Given the description of an element on the screen output the (x, y) to click on. 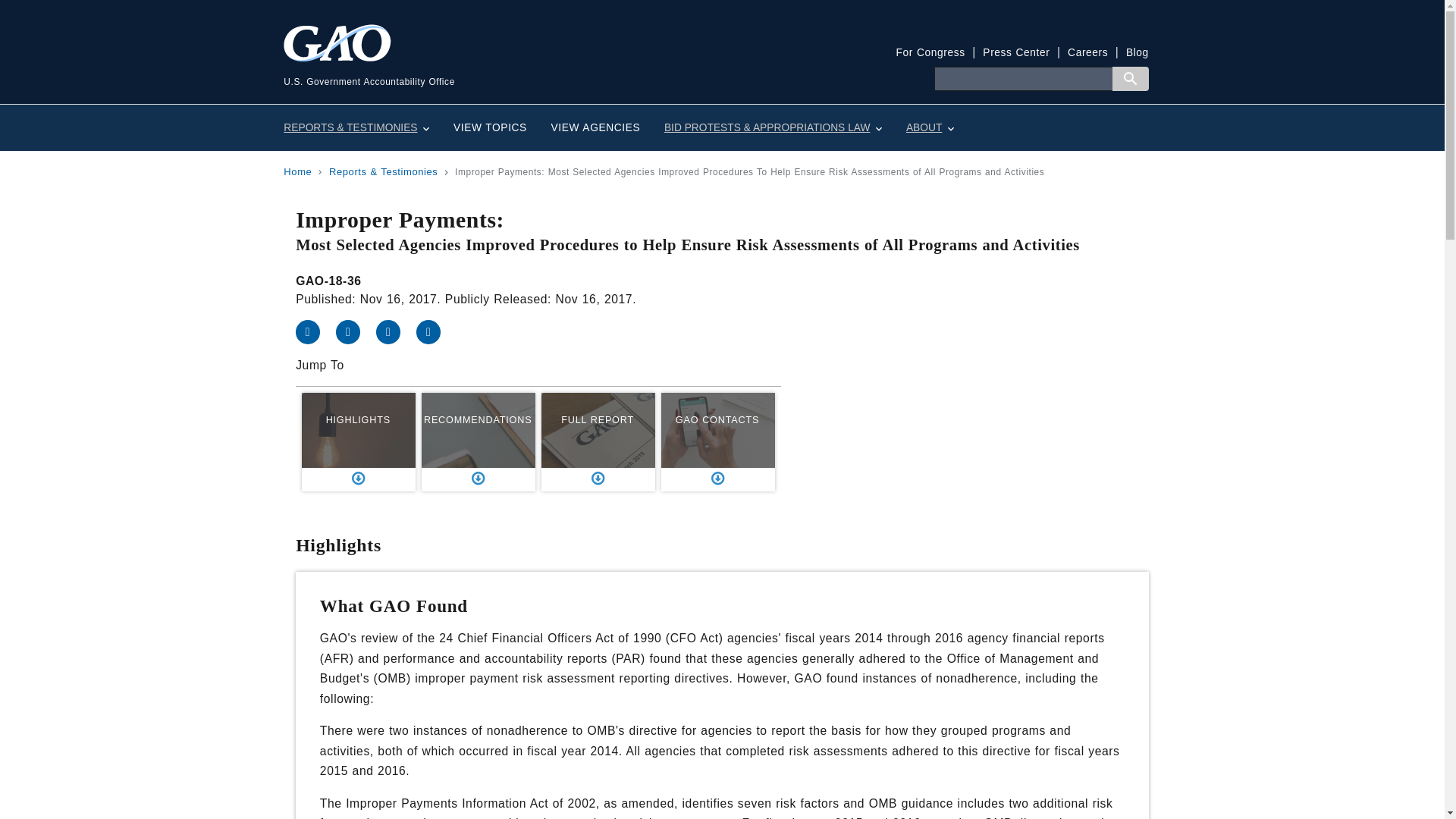
Home (297, 171)
Press Center (1015, 52)
FULL REPORT (598, 442)
Share on LinkedIn (395, 331)
Home (502, 66)
RECOMMENDATIONS (478, 442)
ABOUT (929, 127)
Share on Facebook (315, 331)
VIEW AGENCIES (595, 127)
Blog (1136, 52)
Careers (1087, 52)
Share on Twitter (355, 331)
Share by email (434, 331)
U.S. Government Accountability Office (502, 66)
HIGHLIGHTS (357, 442)
